Given the description of an element on the screen output the (x, y) to click on. 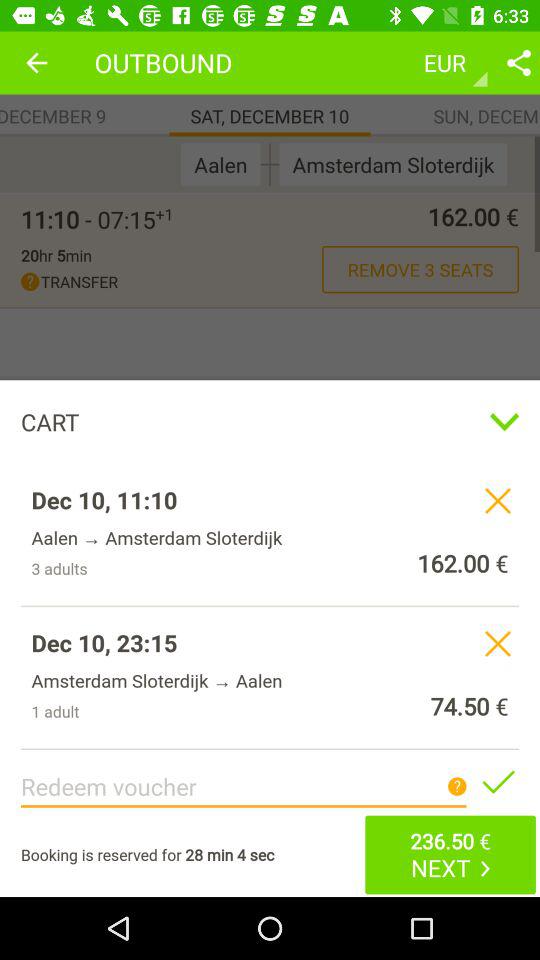
close (498, 643)
